Given the description of an element on the screen output the (x, y) to click on. 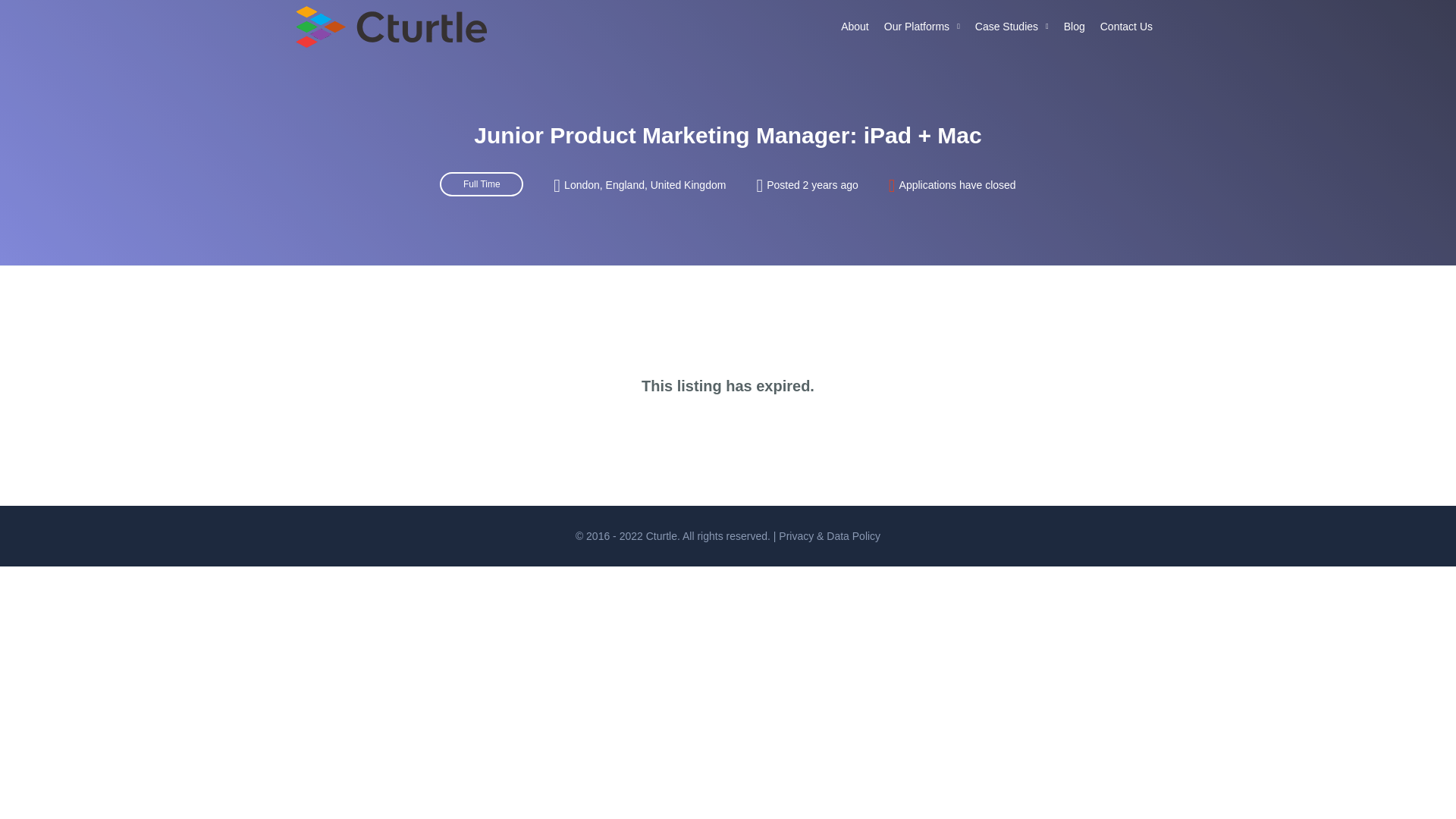
Blog (1075, 26)
Case Studies (1012, 26)
Contact Us (1126, 26)
London, England, United Kingdom (644, 184)
Our Platforms (922, 26)
Cturtle (661, 535)
About (854, 26)
